Given the description of an element on the screen output the (x, y) to click on. 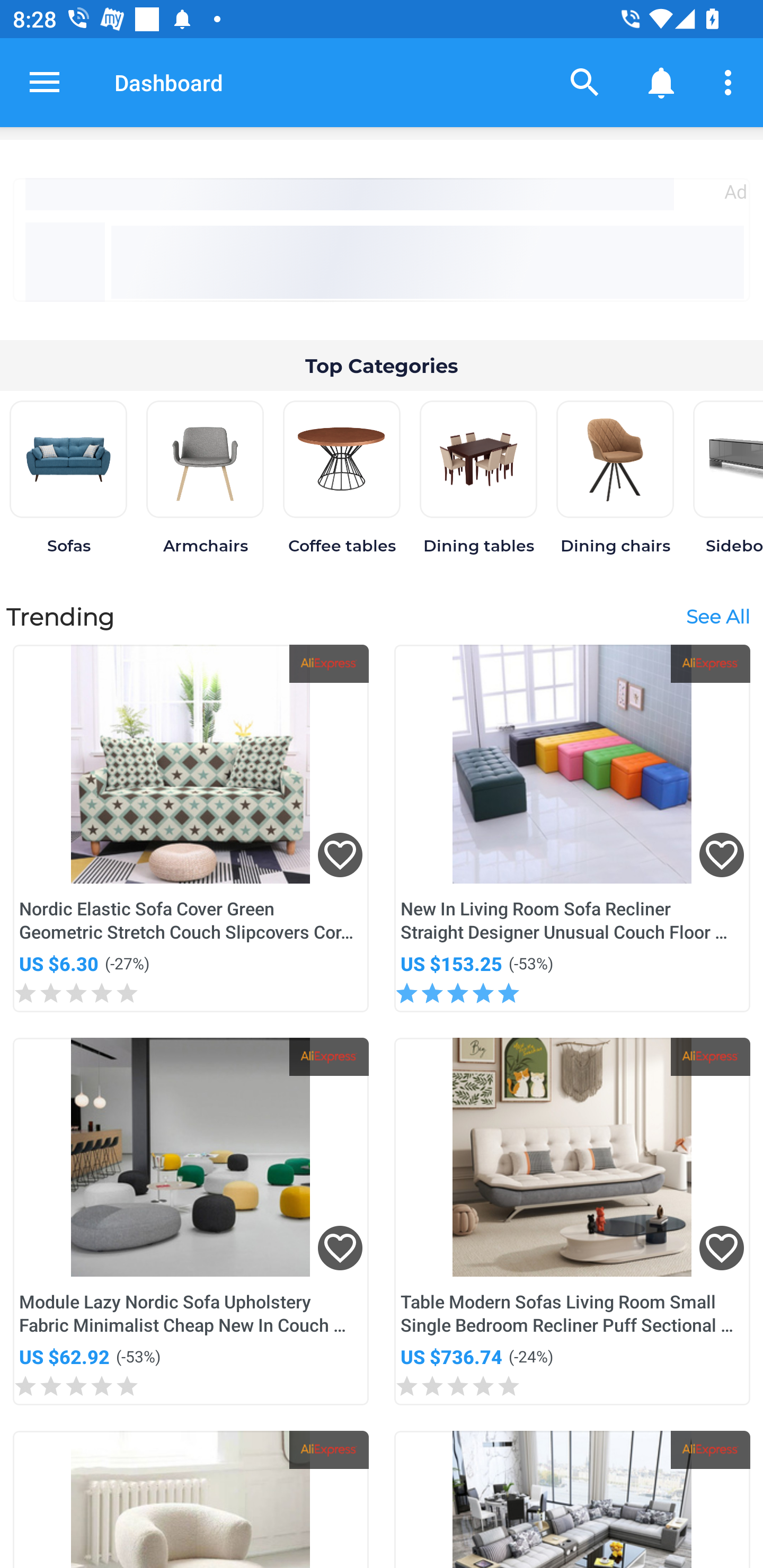
Open navigation drawer (44, 82)
Search (585, 81)
More options (731, 81)
See All (717, 615)
